Given the description of an element on the screen output the (x, y) to click on. 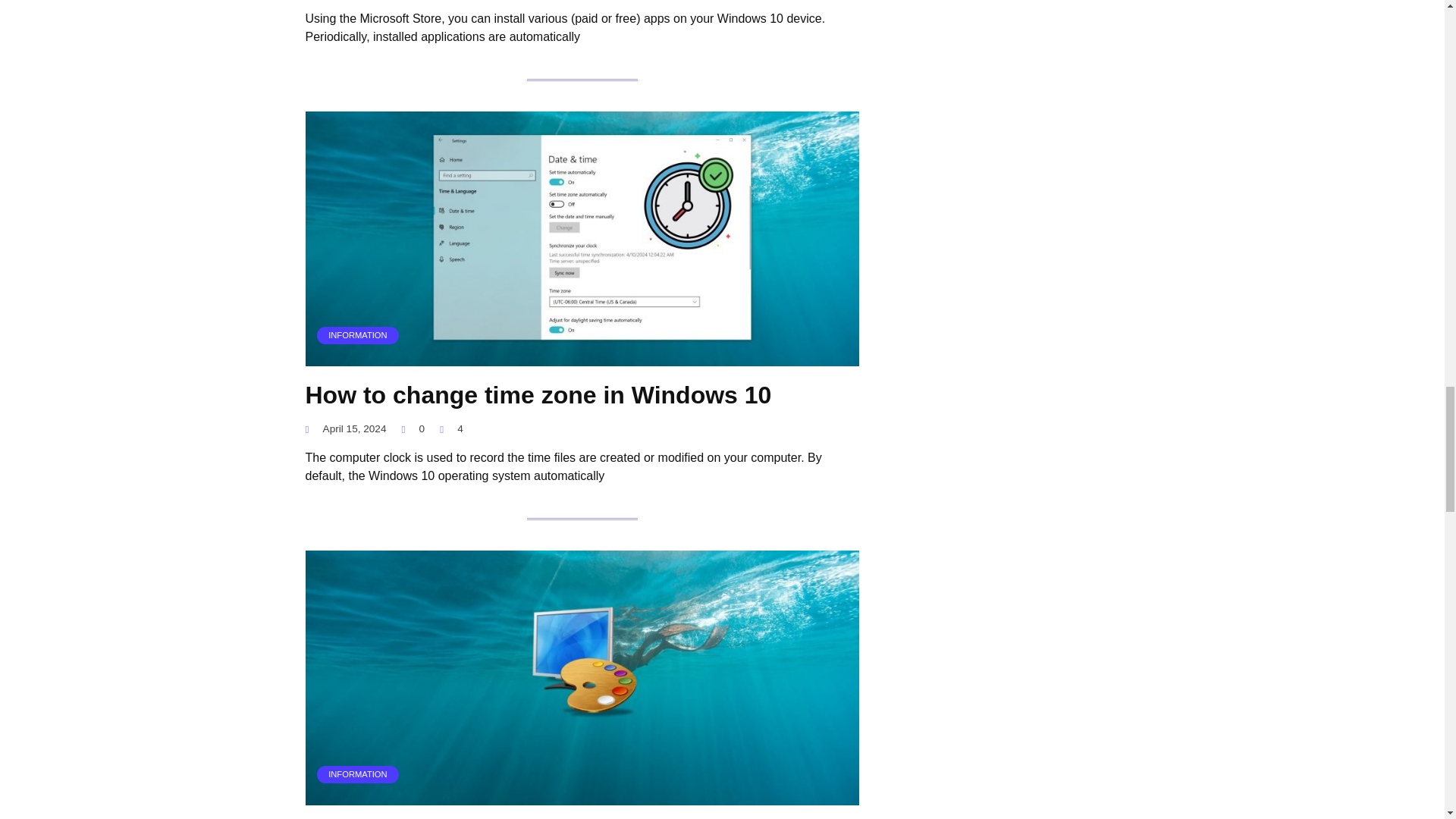
INFORMATION (581, 795)
How to change time zone in Windows 10 (537, 395)
INFORMATION (581, 356)
